Given the description of an element on the screen output the (x, y) to click on. 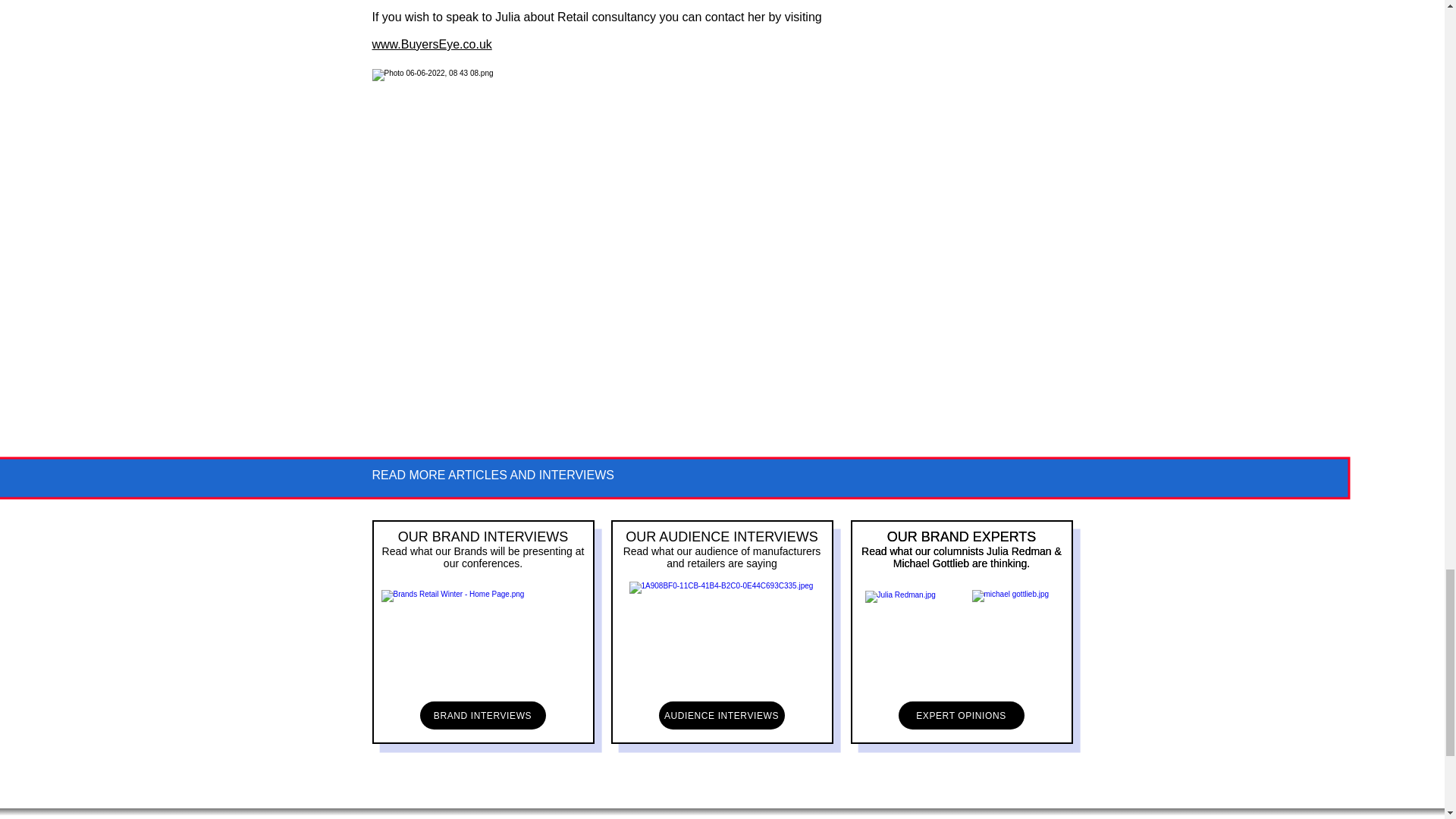
AUDIENCE INTERVIEWS (721, 715)
EXPERT OPINIONS (960, 715)
BRAND INTERVIEWS (483, 715)
www.BuyersEye.co.uk (431, 43)
